Given the description of an element on the screen output the (x, y) to click on. 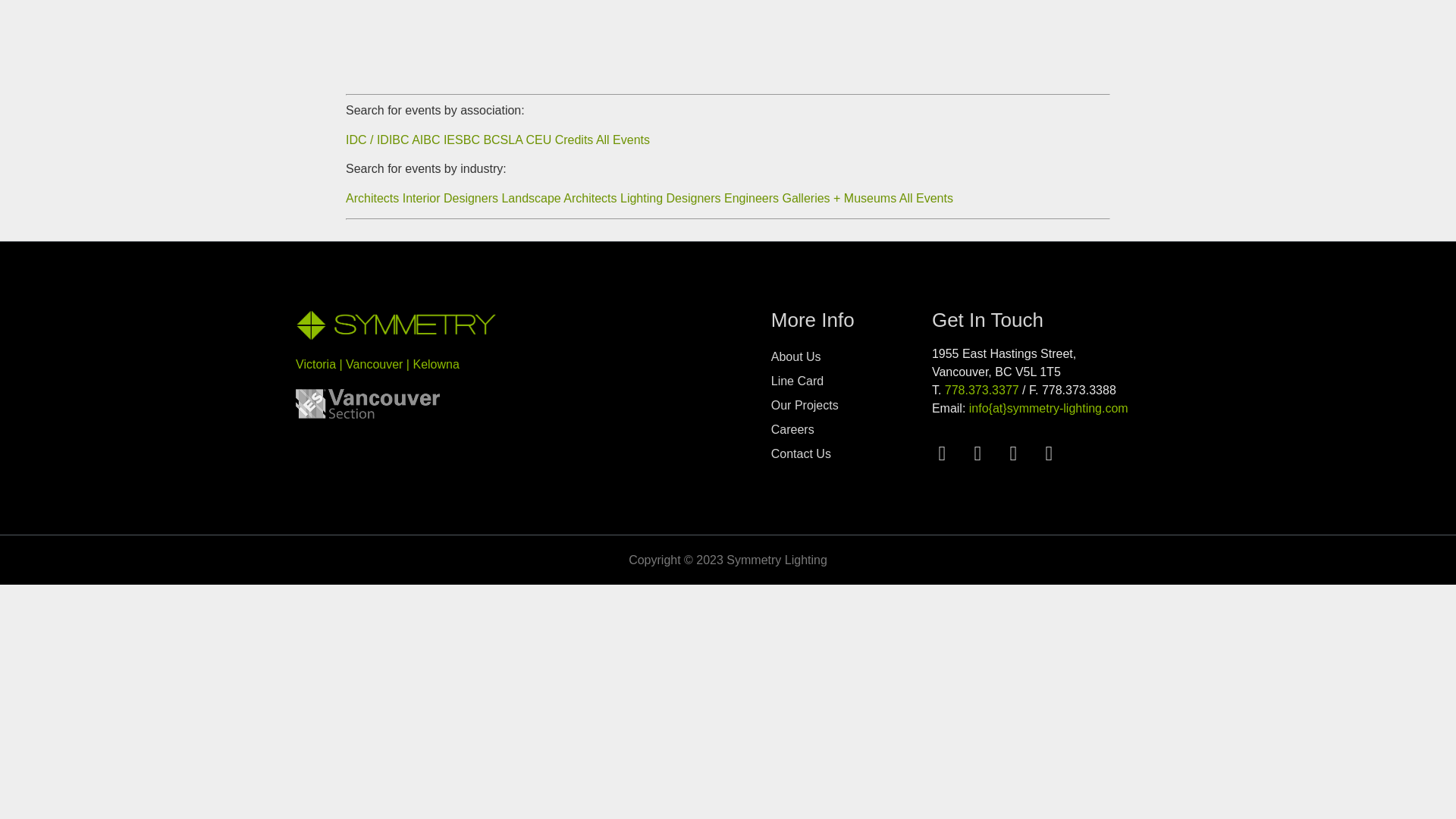
CEU Credits (560, 139)
IESBC (463, 139)
Interior Designers (450, 197)
All Events (622, 139)
Architects (372, 197)
Lighting Designers (670, 197)
AIBC (425, 139)
All Events (926, 197)
Engineers (750, 197)
Line Card (851, 381)
Landscape Architects (557, 197)
BCSLA (504, 139)
About Us (851, 356)
